Given the description of an element on the screen output the (x, y) to click on. 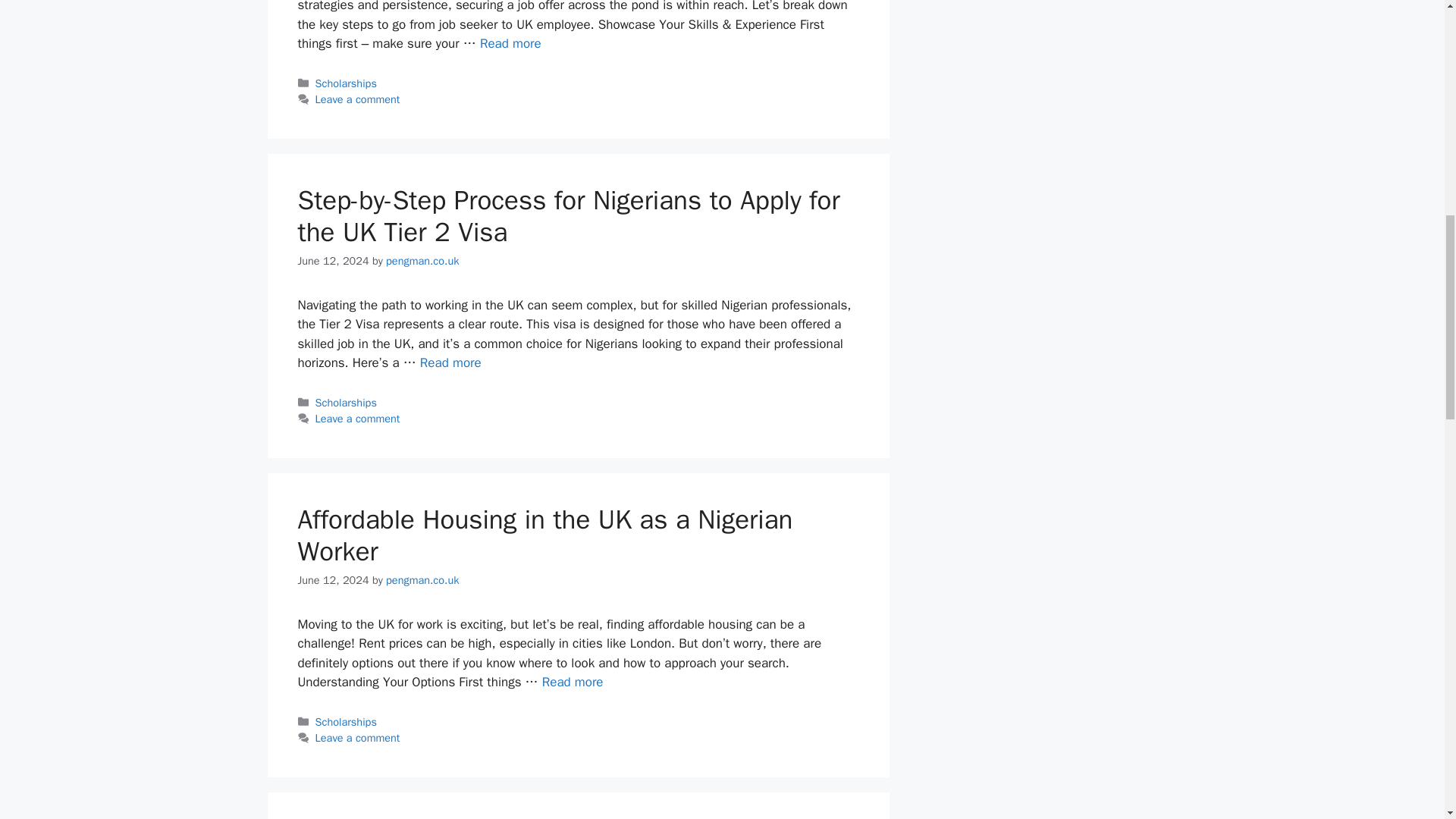
pengman.co.uk (421, 580)
Scholarships (346, 83)
Leave a comment (357, 737)
Leave a comment (357, 418)
Read more (572, 682)
Read more (510, 43)
View all posts by pengman.co.uk (421, 260)
How to Secure a UK Job Offer from Nigeria (510, 43)
